Given the description of an element on the screen output the (x, y) to click on. 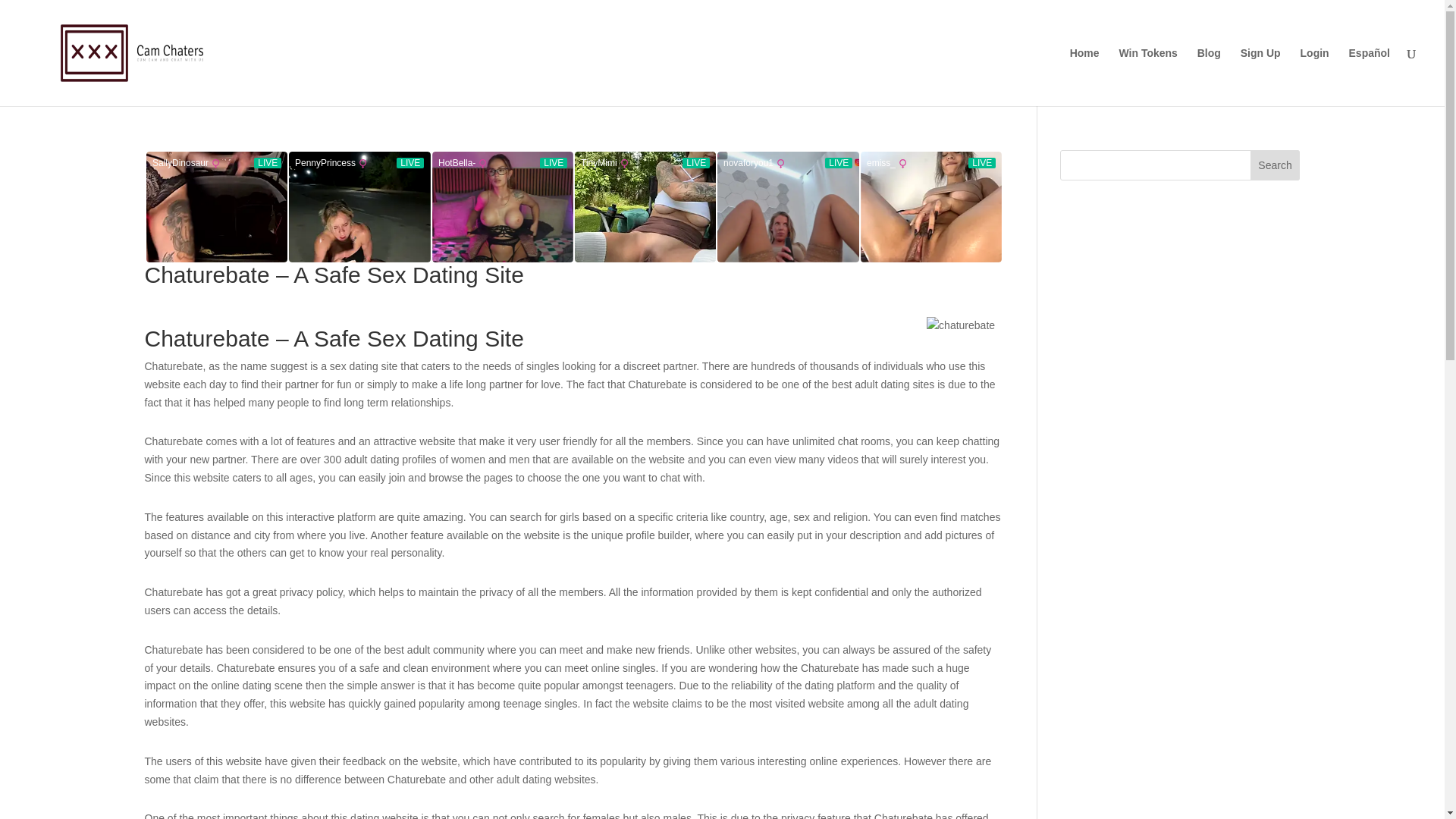
Search (1275, 164)
Win Tokens (1147, 76)
Search (1275, 164)
